Given the description of an element on the screen output the (x, y) to click on. 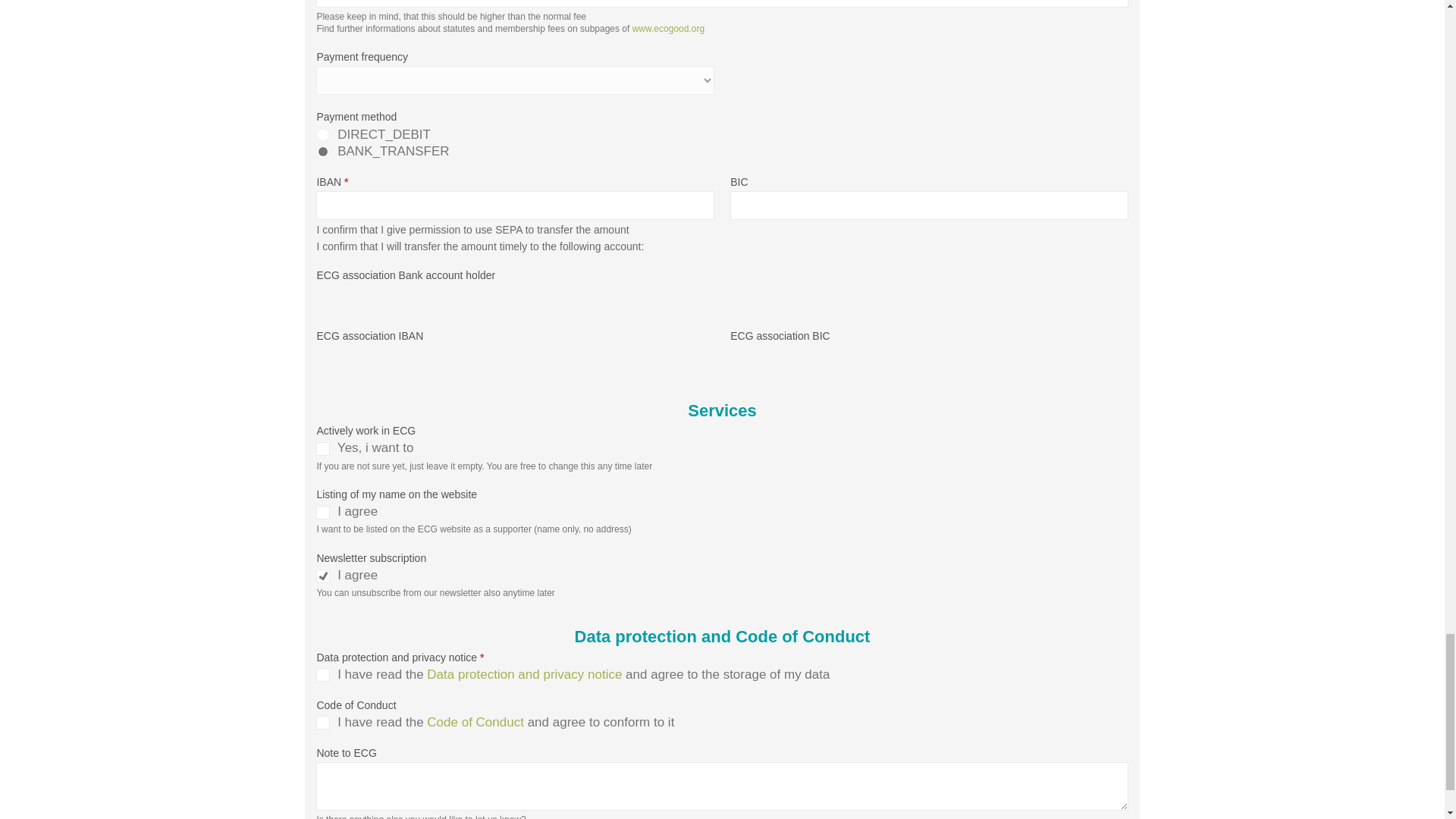
www.ecogood.org (667, 28)
Code of Conduct (475, 721)
Data protection and privacy notice (523, 674)
